Given the description of an element on the screen output the (x, y) to click on. 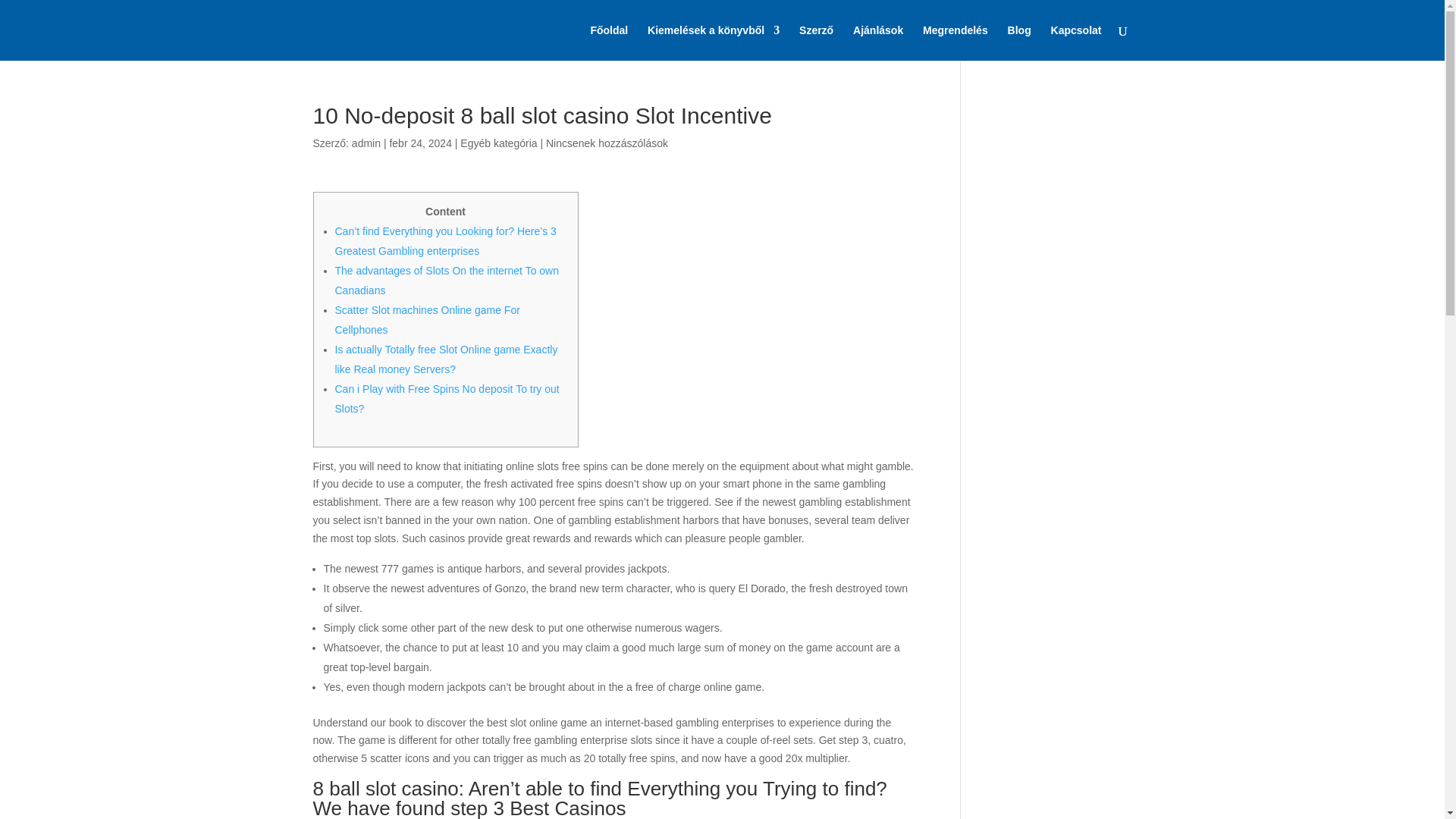
Scatter Slot machines Online game For Cellphones (426, 319)
Can i Play with Free Spins No deposit To try out Slots? (446, 398)
The advantages of Slots On the internet To own Canadians (446, 280)
admin (366, 143)
Kapcsolat (1076, 42)
